Given the description of an element on the screen output the (x, y) to click on. 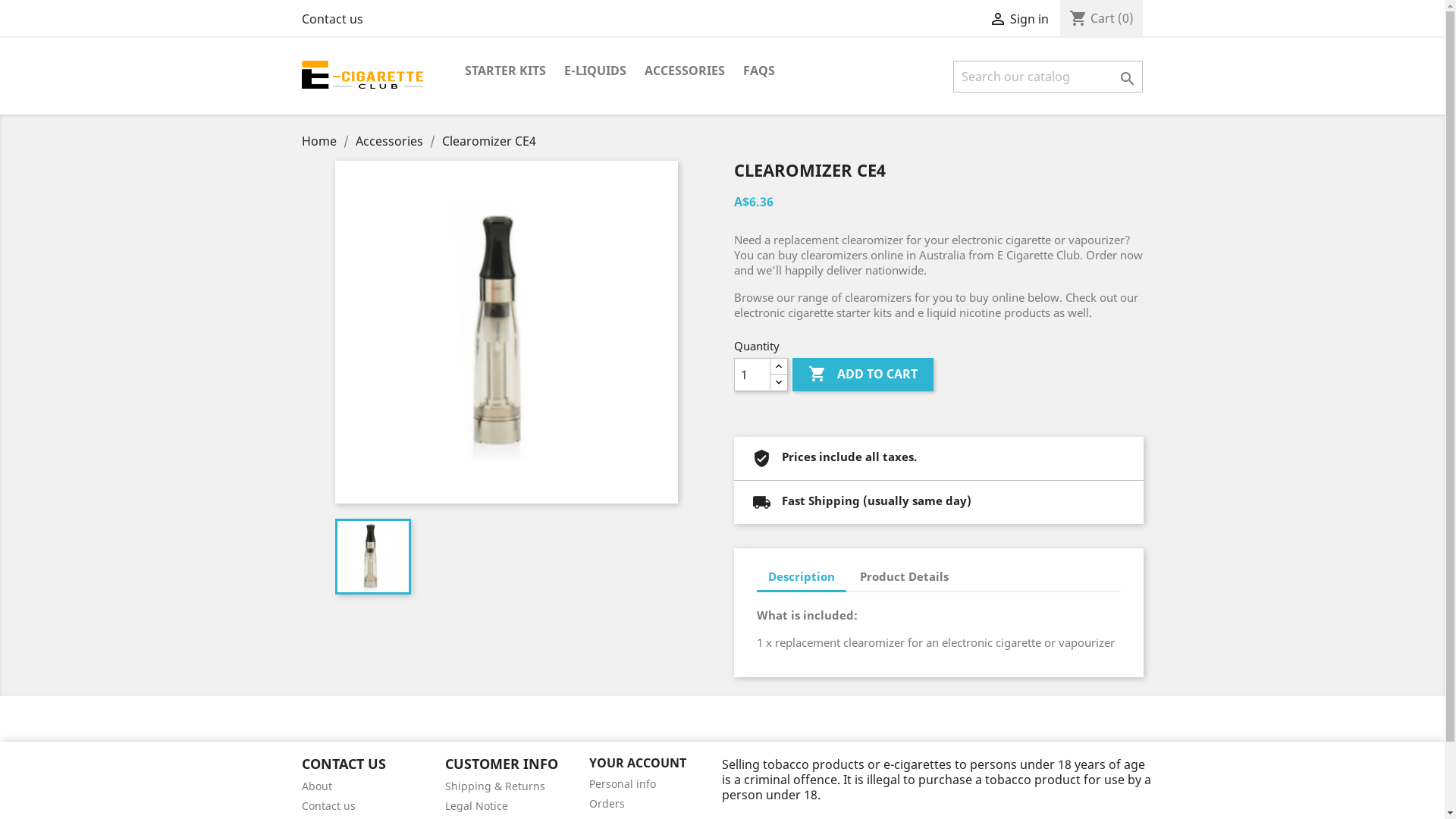
Shipping & Returns Element type: text (495, 785)
E-LIQUIDS Element type: text (594, 71)
Orders Element type: text (606, 803)
ACCESSORIES Element type: text (684, 71)
YOUR ACCOUNT Element type: text (637, 762)
Home Element type: text (320, 140)
FAQS Element type: text (758, 71)
Clearomizer CE4 Element type: text (488, 140)
Contact us Element type: text (328, 805)
Product Details Element type: text (904, 576)
Legal Notice Element type: text (476, 805)
About Element type: text (316, 785)
STARTER KITS Element type: text (504, 71)
Accessories Element type: text (389, 140)
Contact us Element type: text (332, 18)
Personal info Element type: text (622, 783)
Description Element type: text (801, 577)
